Given the description of an element on the screen output the (x, y) to click on. 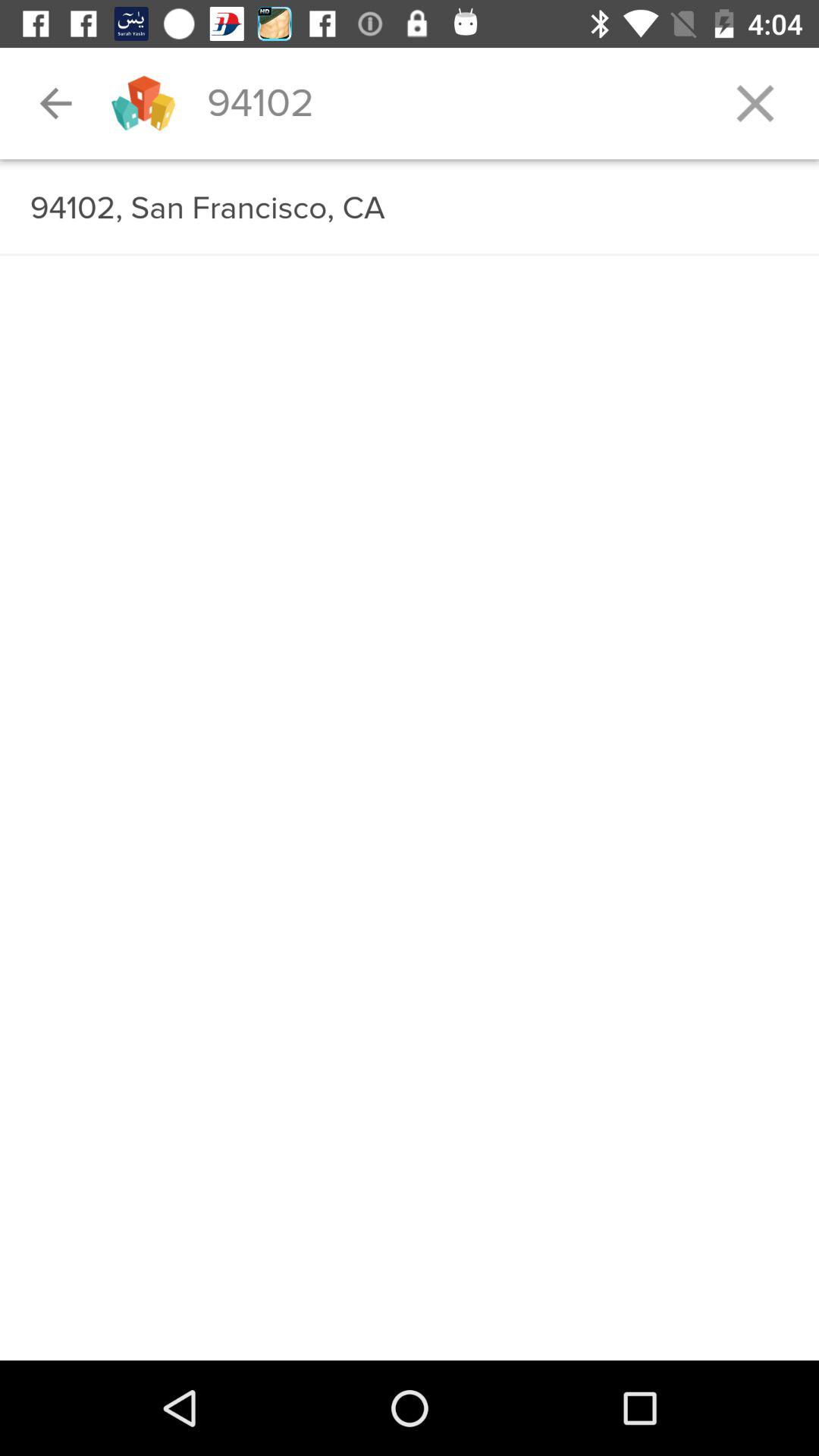
select item below the 94102 item (409, 160)
